Given the description of an element on the screen output the (x, y) to click on. 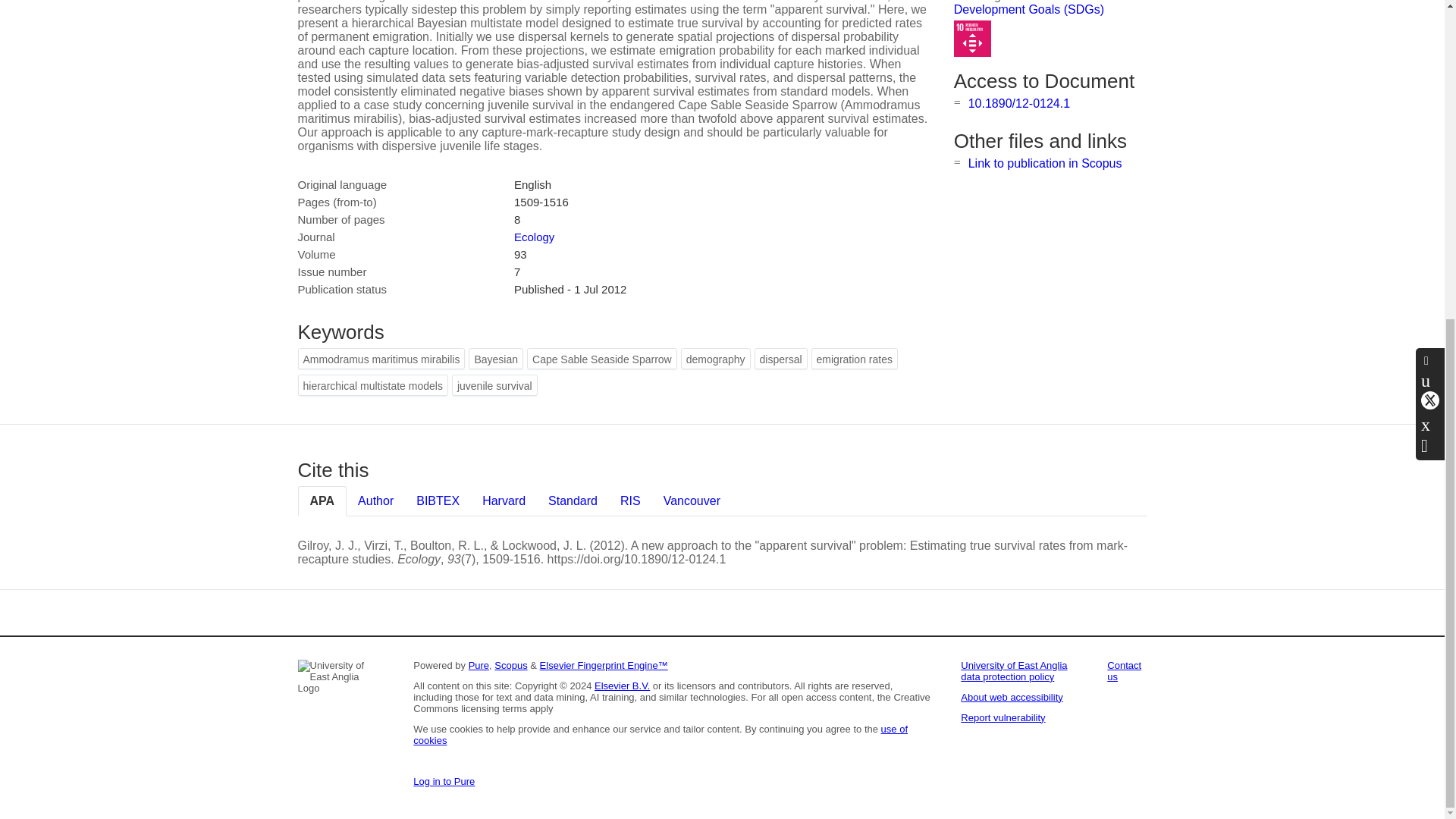
About web accessibility (1011, 696)
Log in to Pure (443, 781)
Contact us (1123, 671)
SDG 10 - Reduced Inequalities (972, 38)
Link to publication in Scopus (1045, 163)
Elsevier B.V. (621, 685)
Scopus (511, 665)
use of cookies (660, 734)
University of East Anglia data protection policy (1013, 671)
Report vulnerability (1002, 717)
Pure (478, 665)
Ecology (533, 236)
